Given the description of an element on the screen output the (x, y) to click on. 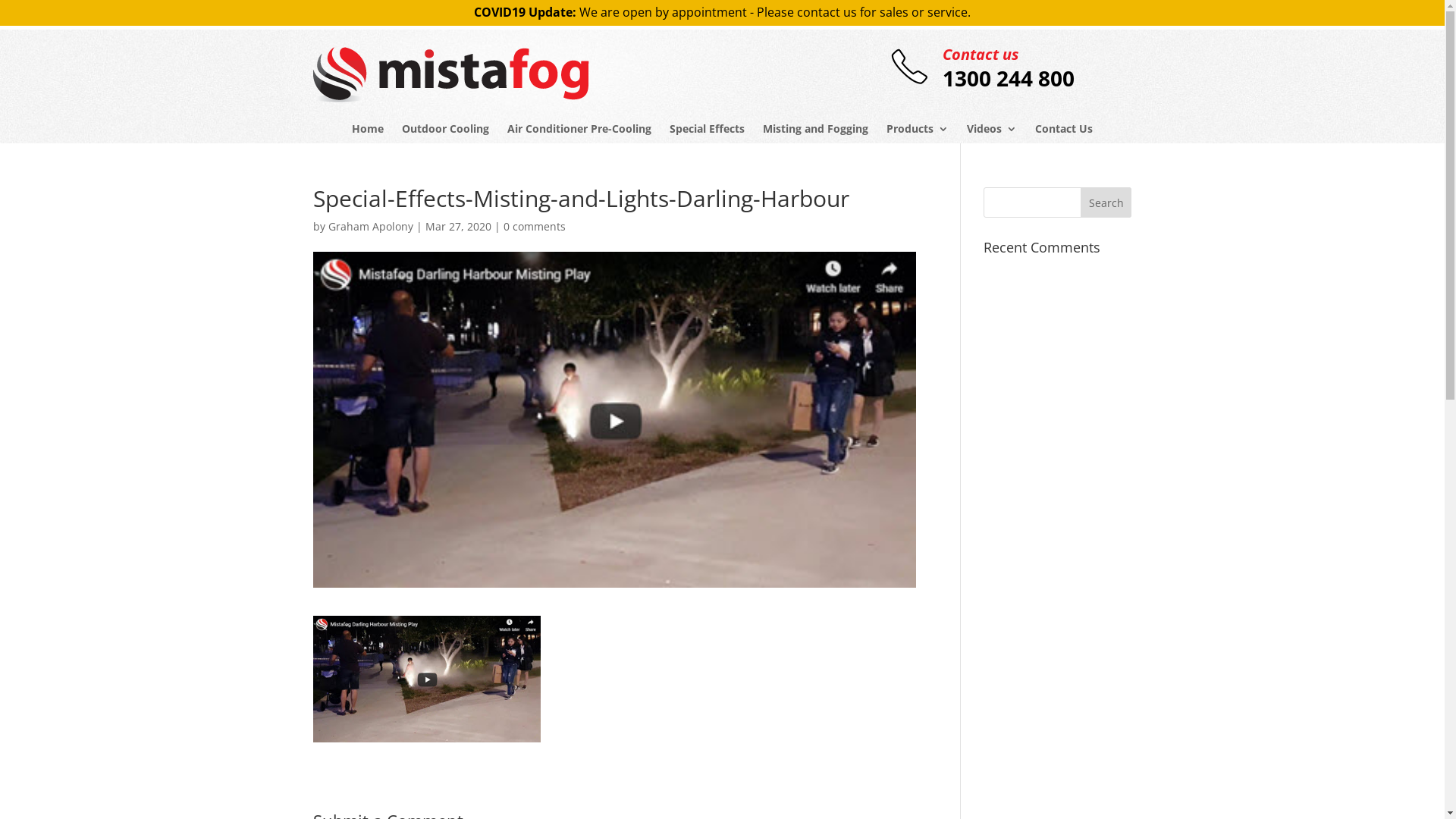
Misting and Fogging Element type: text (815, 128)
Air Conditioner Pre-Cooling Element type: text (579, 128)
Home Element type: text (367, 128)
Graham Apolony Element type: text (369, 226)
Search Element type: text (1106, 202)
Special Effects Element type: text (706, 128)
0 comments Element type: text (534, 226)
Outdoor Cooling Element type: text (445, 128)
Contact Us Element type: text (1063, 128)
Videos Element type: text (991, 128)
Products Element type: text (917, 128)
